Given the description of an element on the screen output the (x, y) to click on. 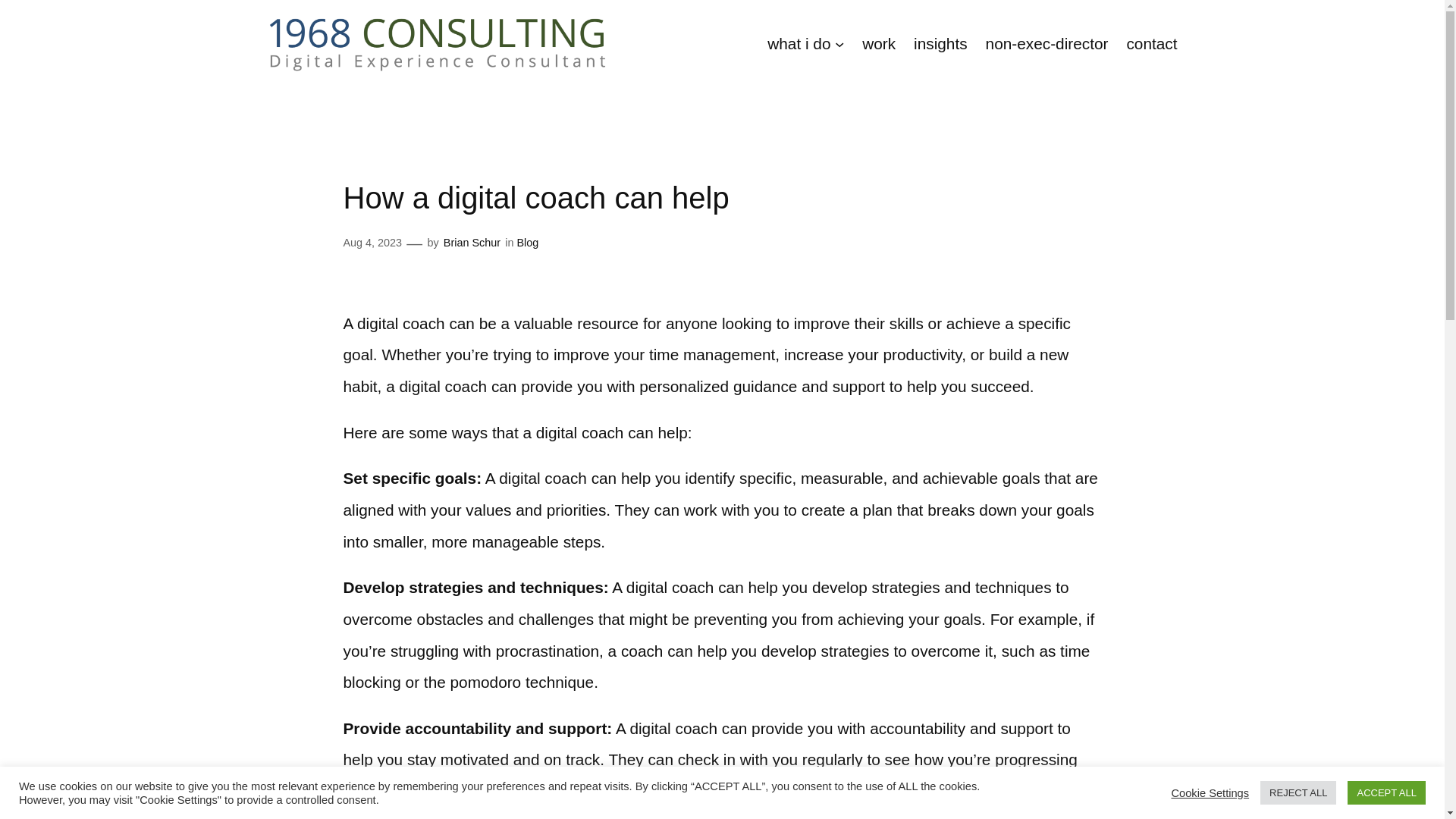
contact (1150, 43)
REJECT ALL (1298, 792)
Cookie Settings (1209, 792)
what i do (798, 43)
insights (941, 43)
Brian Schur (472, 242)
Blog (527, 242)
ACCEPT ALL (1386, 792)
non-exec-director (1046, 43)
work (878, 43)
Aug 4, 2023 (371, 242)
